Given the description of an element on the screen output the (x, y) to click on. 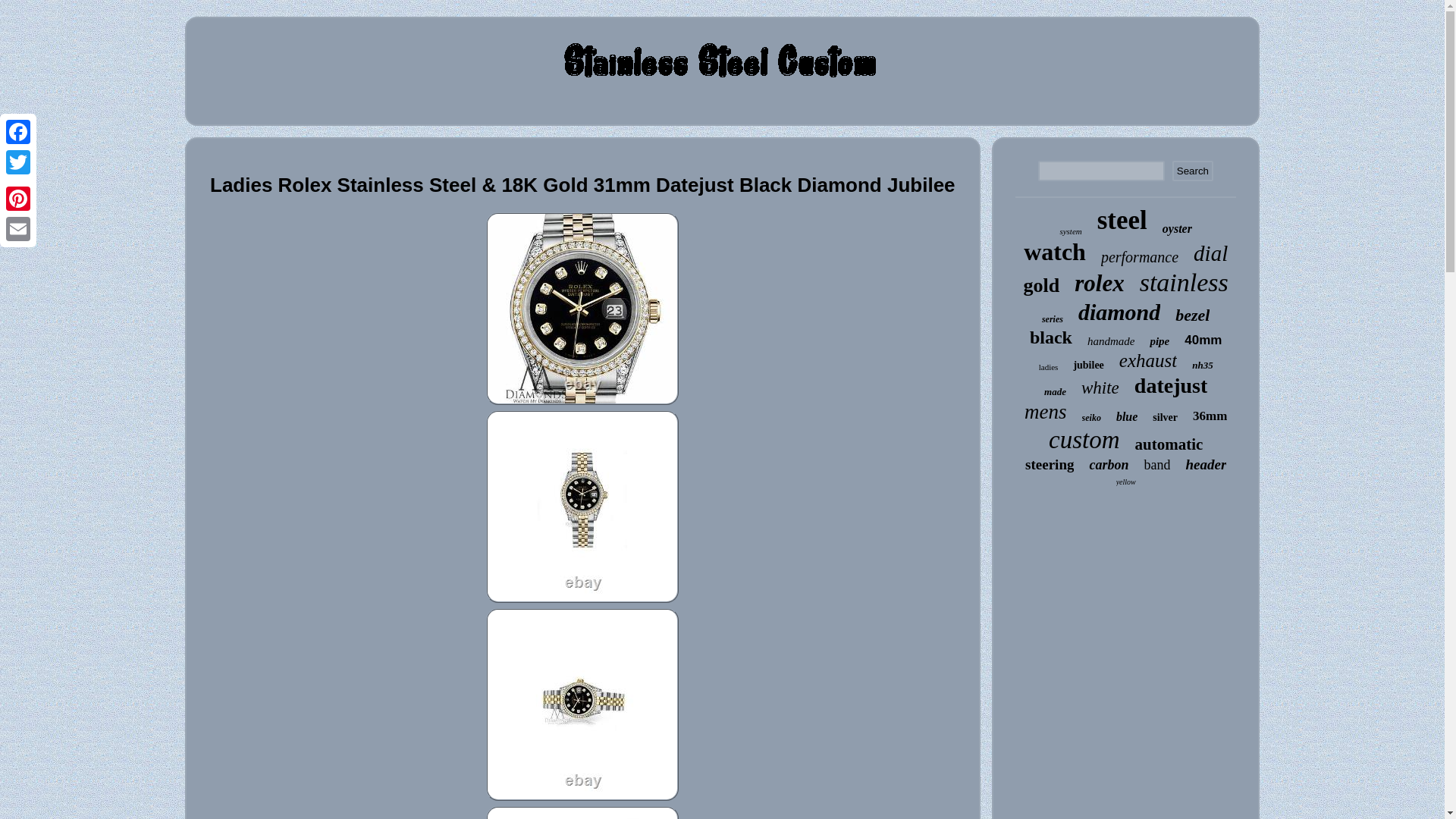
gold (1041, 285)
diamond (1119, 312)
system (1070, 230)
pipe (1159, 341)
watch (1054, 252)
Facebook (17, 132)
Search (1192, 170)
Twitter (17, 162)
Email (17, 228)
handmade (1111, 341)
Pinterest (17, 198)
rolex (1099, 283)
dial (1210, 253)
stainless (1184, 282)
steel (1122, 220)
